Given the description of an element on the screen output the (x, y) to click on. 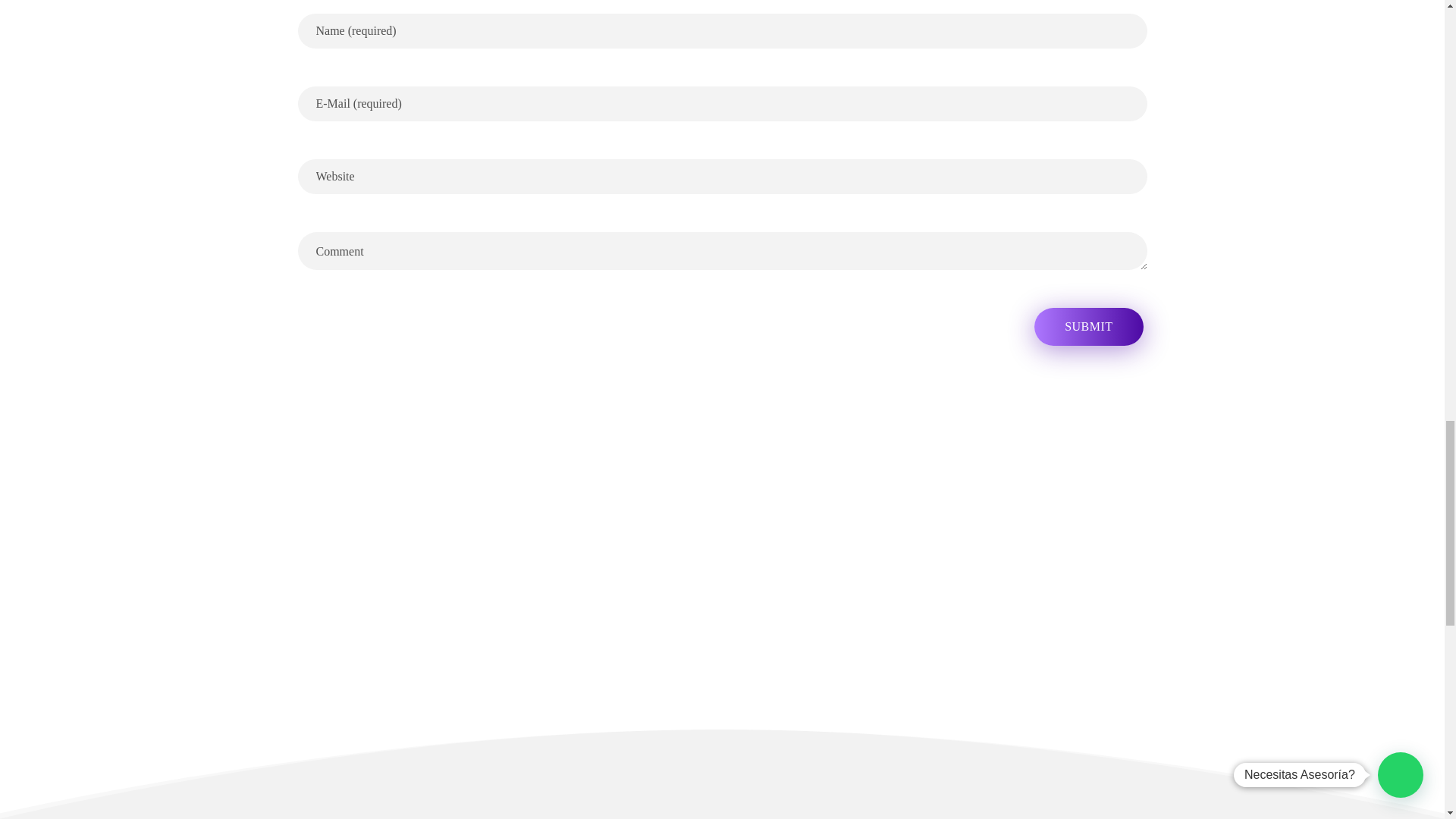
Submit (1087, 326)
Submit (1087, 326)
